Given the description of an element on the screen output the (x, y) to click on. 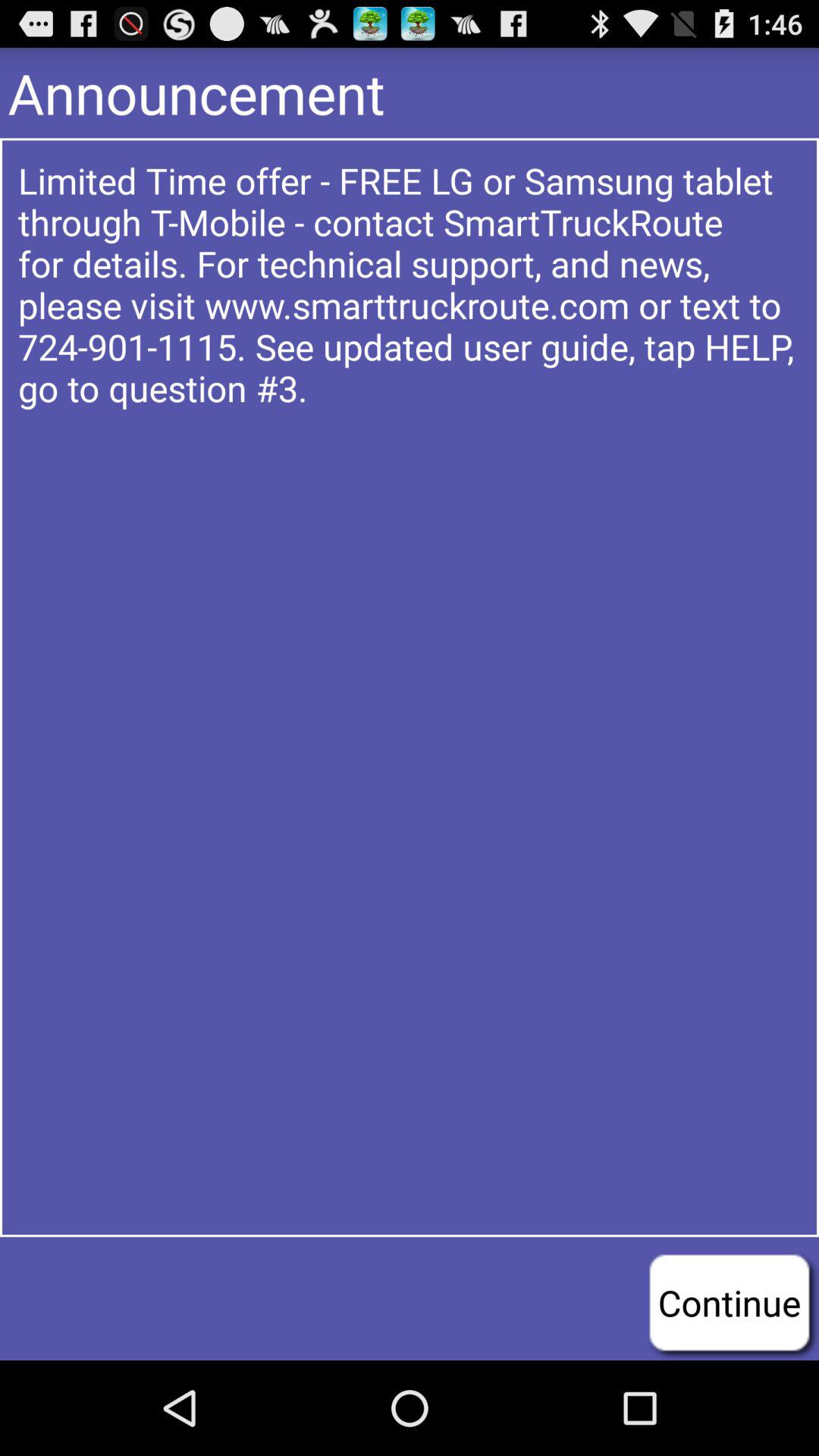
select app below the limited time offer item (729, 1302)
